Given the description of an element on the screen output the (x, y) to click on. 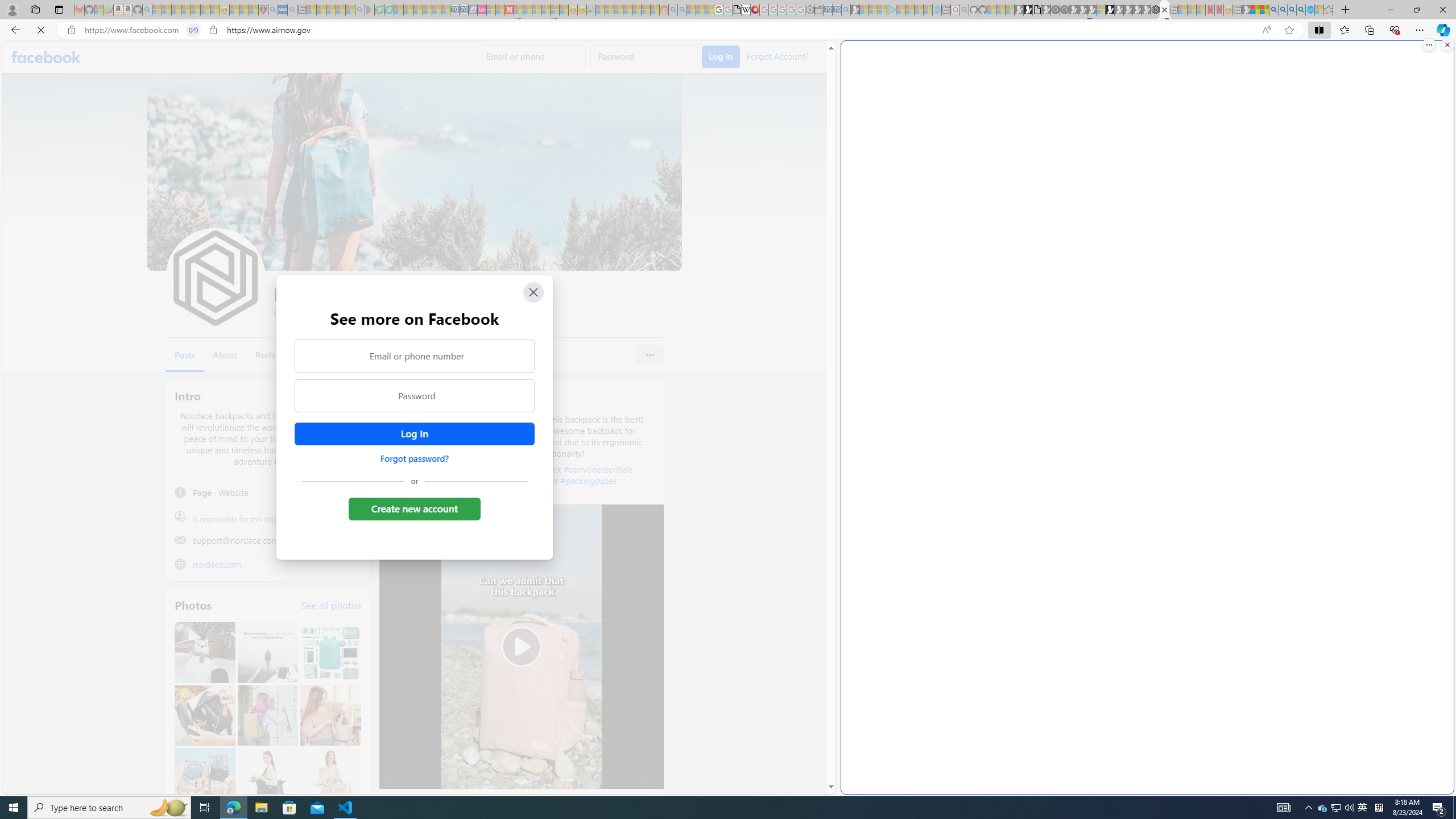
google - Search - Sleeping (359, 9)
DITOGAMES AG Imprint - Sleeping (590, 9)
Nordace - Cooler Bags (1154, 9)
Latest Politics News & Archive | Newsweek.com - Sleeping (508, 9)
Services - Maintenance | Sky Blue Bikes - Sky Blue Bikes (1309, 9)
Bluey: Let's Play! - Apps on Google Play - Sleeping (369, 9)
Forgot Account? (776, 55)
